Given the description of an element on the screen output the (x, y) to click on. 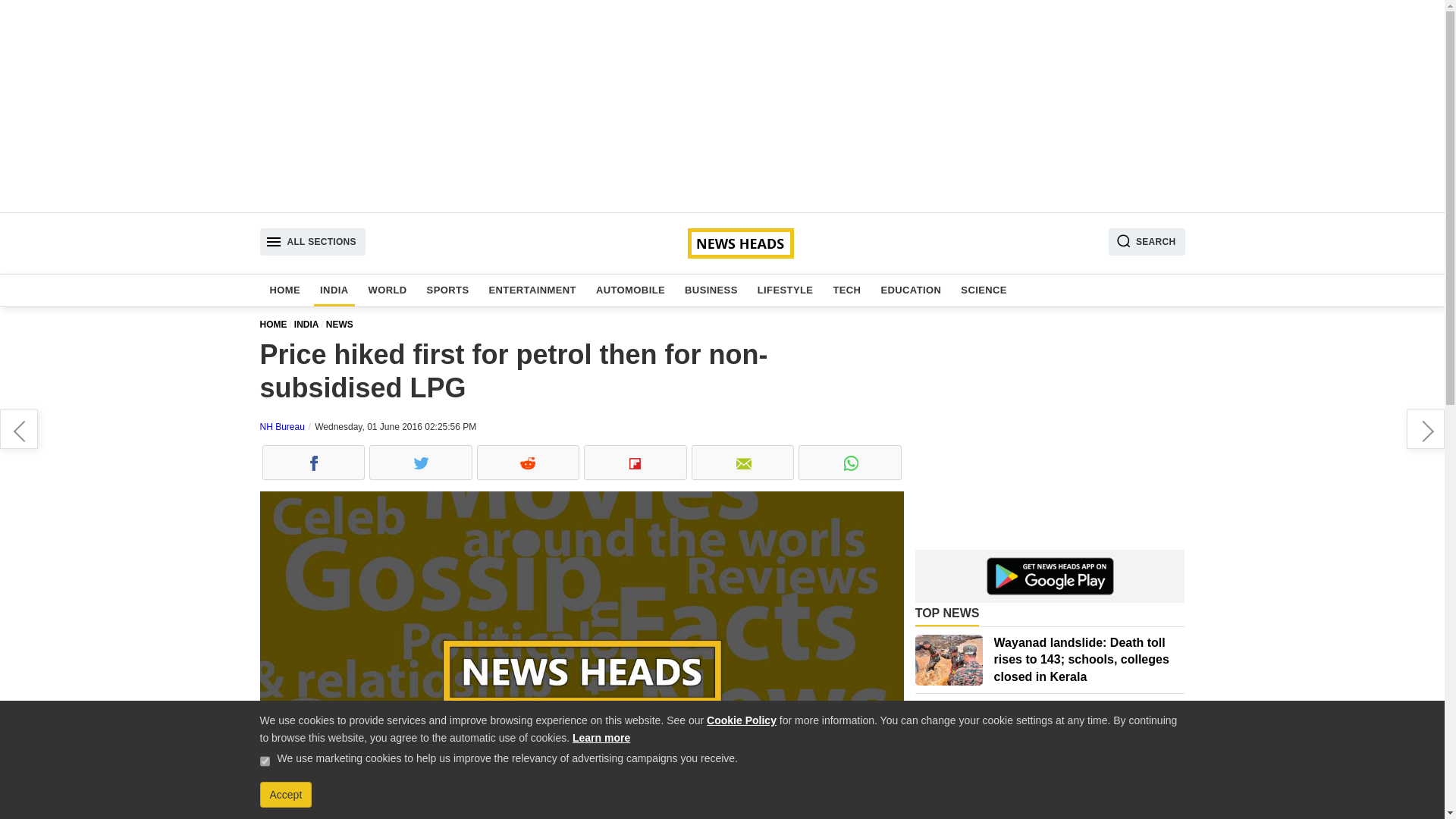
Cookie Policy (741, 720)
WORLD (387, 290)
NEWS (342, 324)
ENTERTAINMENT (530, 290)
Accept (285, 794)
INDIA (333, 290)
SPORTS (448, 290)
HOME (276, 324)
NH Bureau (281, 426)
AUTOMOBILE (630, 290)
EDUCATION (911, 290)
TECH (846, 290)
INDIA (310, 324)
